Given the description of an element on the screen output the (x, y) to click on. 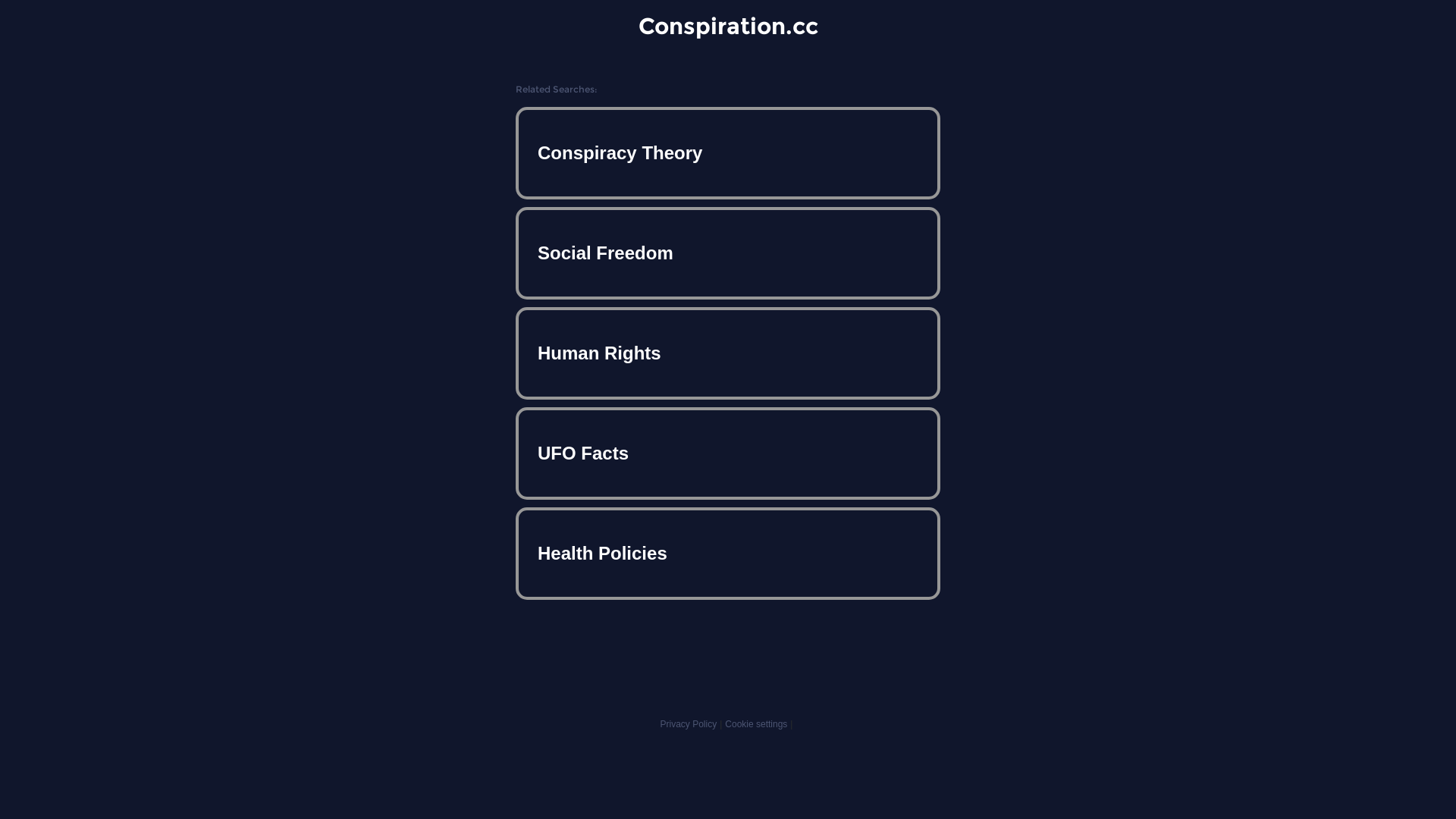
UFO Facts Element type: text (727, 453)
Conspiration.cc Element type: text (728, 26)
Privacy Policy Element type: text (687, 723)
Social Freedom Element type: text (727, 253)
Conspiracy Theory Element type: text (727, 152)
Health Policies Element type: text (727, 553)
Cookie settings Element type: text (755, 723)
Human Rights Element type: text (727, 353)
